Given the description of an element on the screen output the (x, y) to click on. 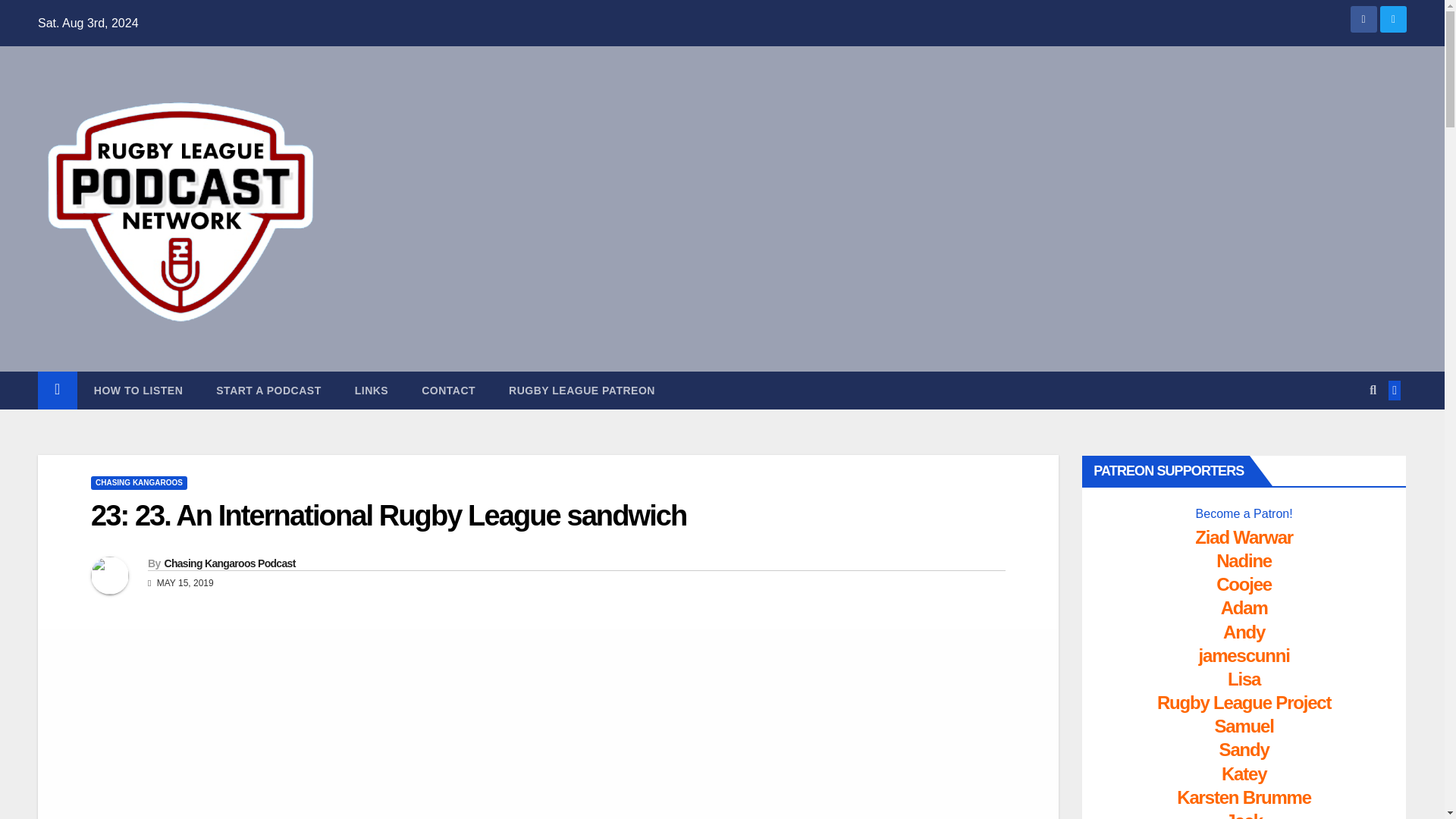
START A PODCAST (268, 390)
How To Listen (138, 390)
LINKS (371, 390)
Contact (448, 390)
Start A Podcast (268, 390)
CHASING KANGAROOS (138, 482)
Permalink to: 23: 23. An International Rugby League sandwich (387, 515)
Links (371, 390)
Rugby League Patreon (581, 390)
CONTACT (448, 390)
